Given the description of an element on the screen output the (x, y) to click on. 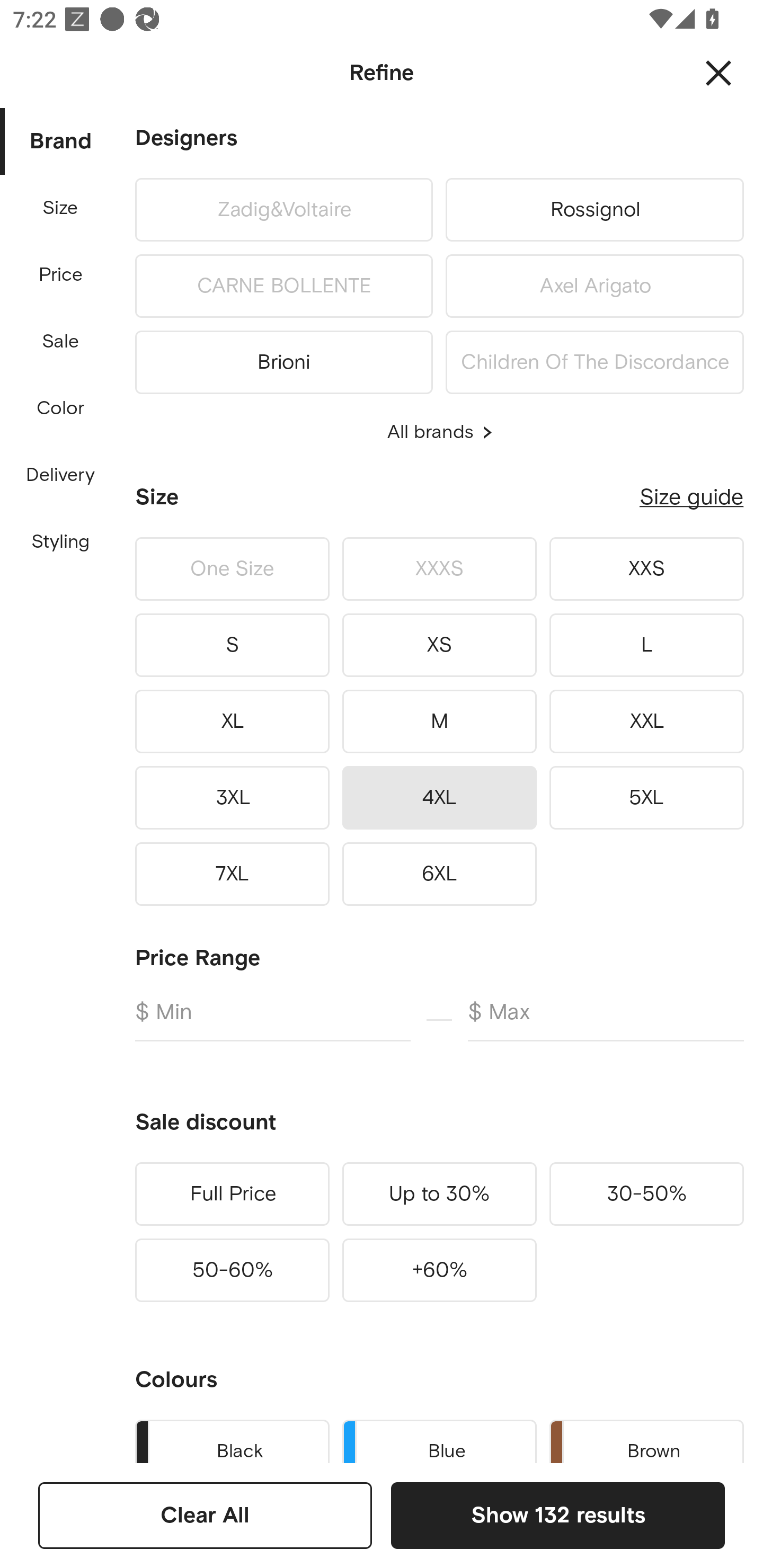
Brand (60, 141)
Size (60, 208)
Zadig&Voltaire (283, 208)
Rossignol (594, 208)
Price (60, 274)
CARNE BOLLENTE (283, 285)
Axel Arigato (594, 285)
Sale (60, 342)
Brioni (283, 358)
Children Of The Discordance (594, 358)
Color (60, 408)
All brands (439, 431)
Delivery (60, 475)
Size guide (691, 496)
Styling (60, 542)
One Size (232, 568)
XXXS (439, 568)
XXS (646, 568)
S (232, 644)
XS (439, 644)
L (646, 644)
XL (232, 720)
M (439, 720)
XXL (646, 720)
3XL (232, 796)
4XL (439, 796)
5XL (646, 796)
7XL (232, 873)
6XL (439, 873)
$ Min (272, 1019)
$ Max (605, 1019)
Full Price (232, 1193)
Up to 30% (439, 1193)
30-50% (646, 1193)
50-60% (232, 1269)
+60% (439, 1269)
Black (232, 1437)
Blue (439, 1437)
Brown (646, 1437)
Clear All (205, 1515)
Show 132 results (557, 1515)
